Given the description of an element on the screen output the (x, y) to click on. 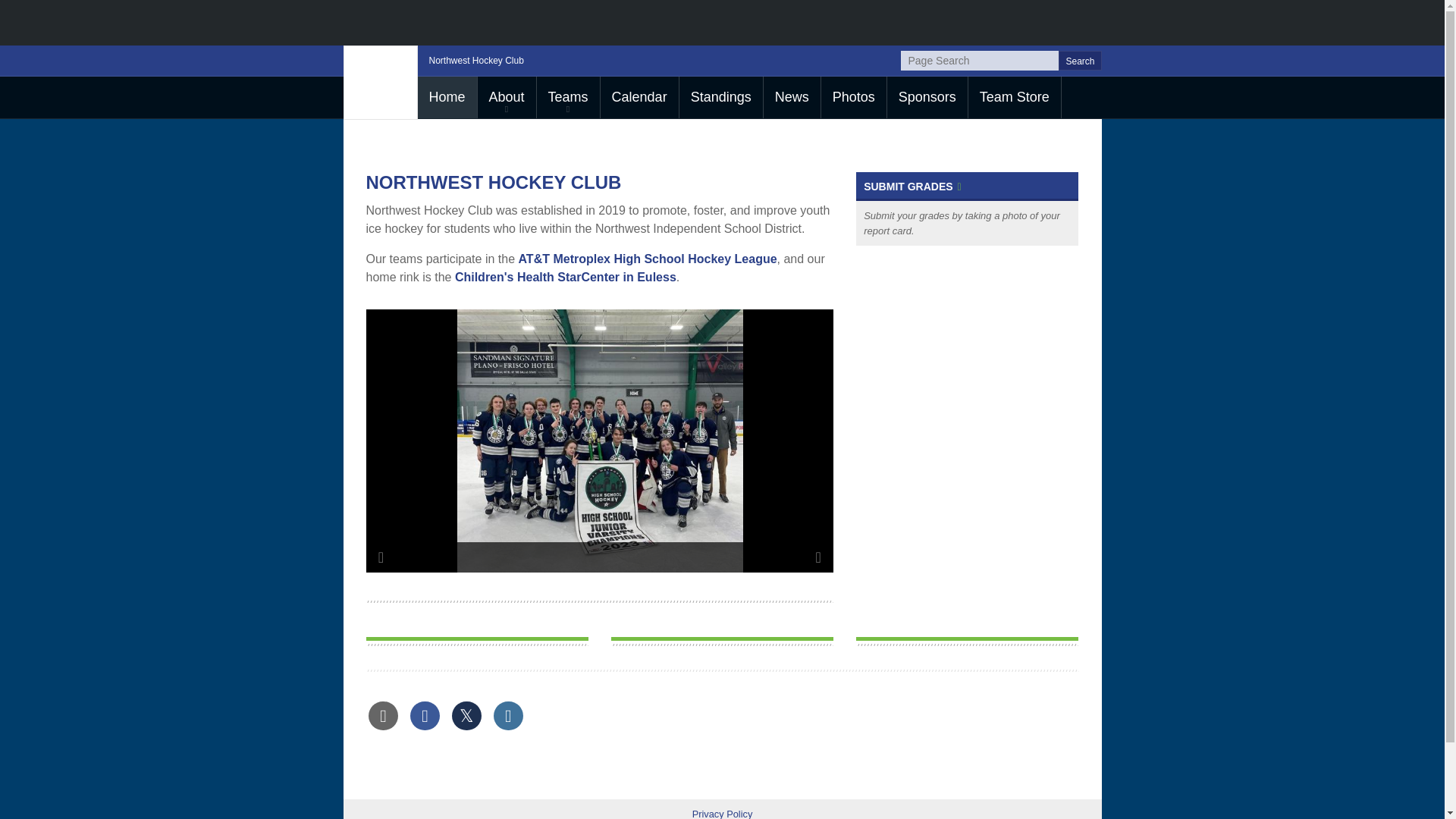
Calendar (638, 96)
click to go to 'News' (791, 96)
Teams (568, 96)
Sponsors (927, 96)
click to go to 'About NHC' (506, 96)
Standings (720, 96)
click to go to 'Teams' (568, 96)
About (506, 96)
click to go to 'Photo Gallery' (853, 96)
click to go to 'Home' (446, 96)
Privacy Policy (722, 812)
Home (446, 96)
click to go to 'Sponsors' (927, 96)
Team Store (1014, 96)
Children's Health StarCenter in Euless (565, 277)
